Given the description of an element on the screen output the (x, y) to click on. 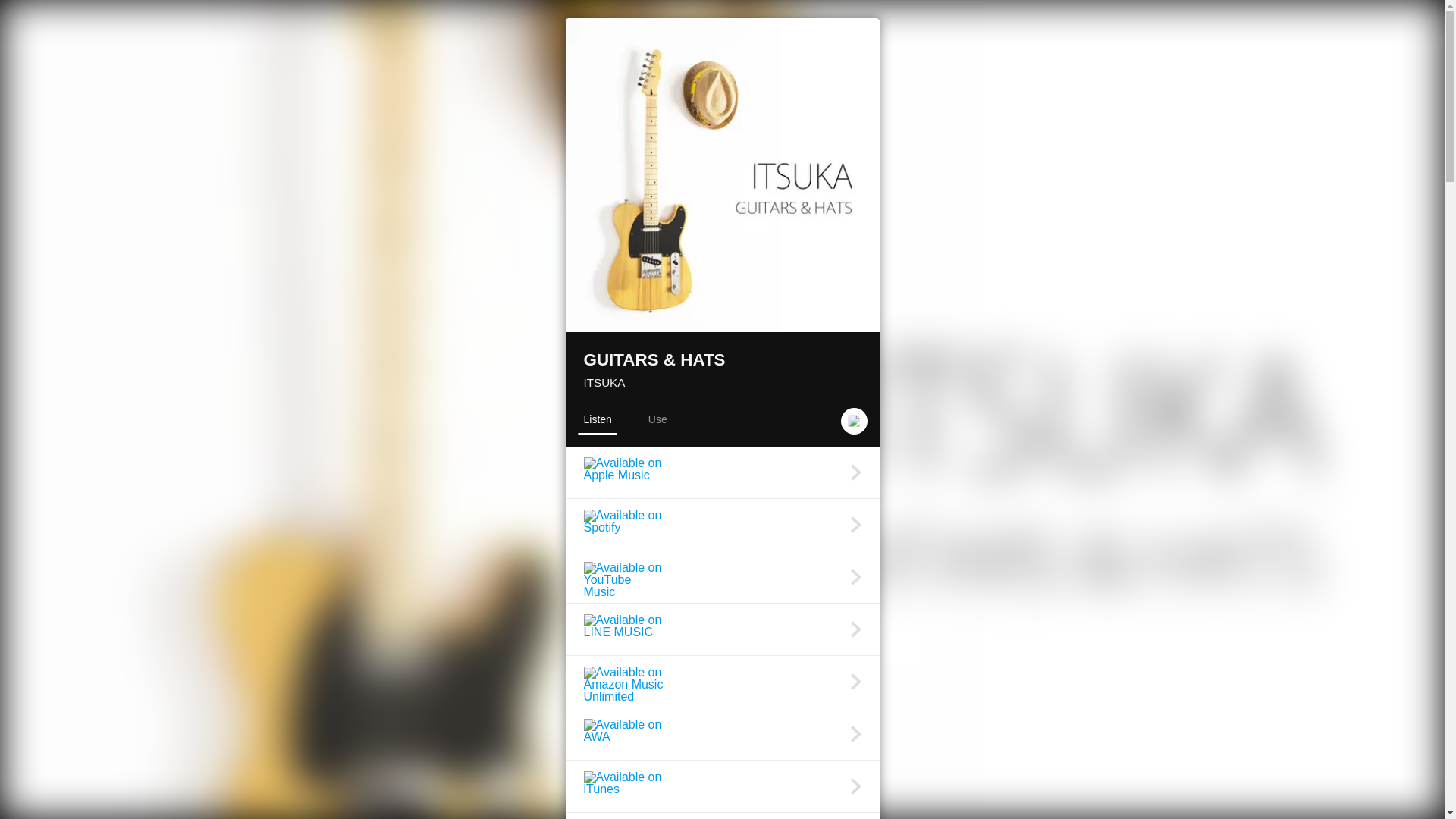
Available on AWA (722, 734)
Available on YouTube Music (722, 576)
Available on Spotify (722, 524)
Available on Apple Music (722, 471)
ITSUKA (604, 382)
Available on iTunes (722, 786)
ITSUKA (604, 382)
Available on Amazon Music Unlimited (722, 681)
Available on LINE MUSIC (722, 629)
Available on Amazon Music (722, 816)
